Given the description of an element on the screen output the (x, y) to click on. 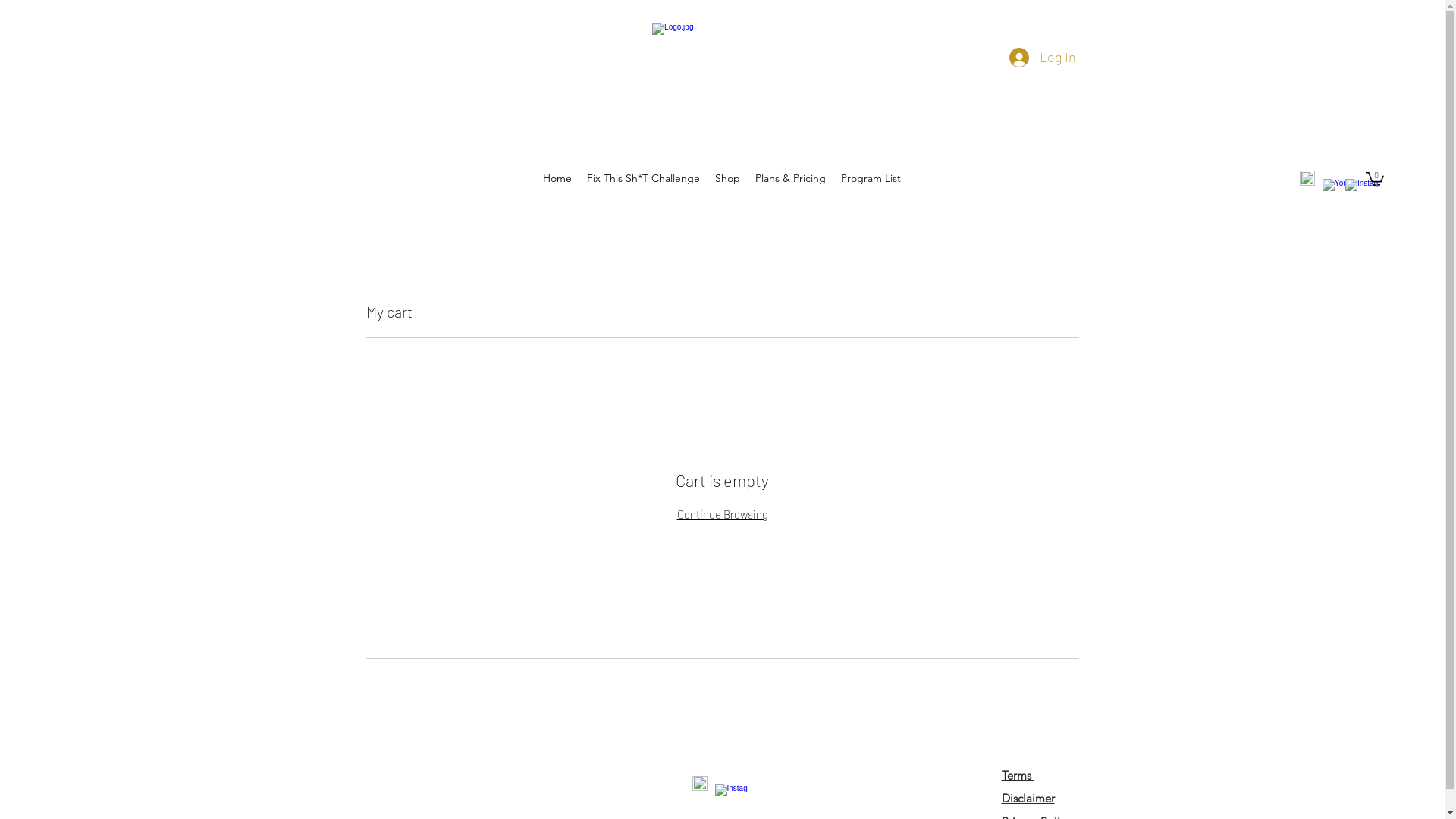
Log In Element type: text (1041, 57)
Plans & Pricing Element type: text (790, 177)
Continue Browsing Element type: text (721, 513)
Home Element type: text (557, 177)
Terms  Element type: text (1017, 774)
Fix This Sh*T Challenge Element type: text (643, 177)
Disclaimer Element type: text (1027, 797)
Shop Element type: text (727, 177)
0 Element type: text (1374, 177)
Program List Element type: text (870, 177)
